Given the description of an element on the screen output the (x, y) to click on. 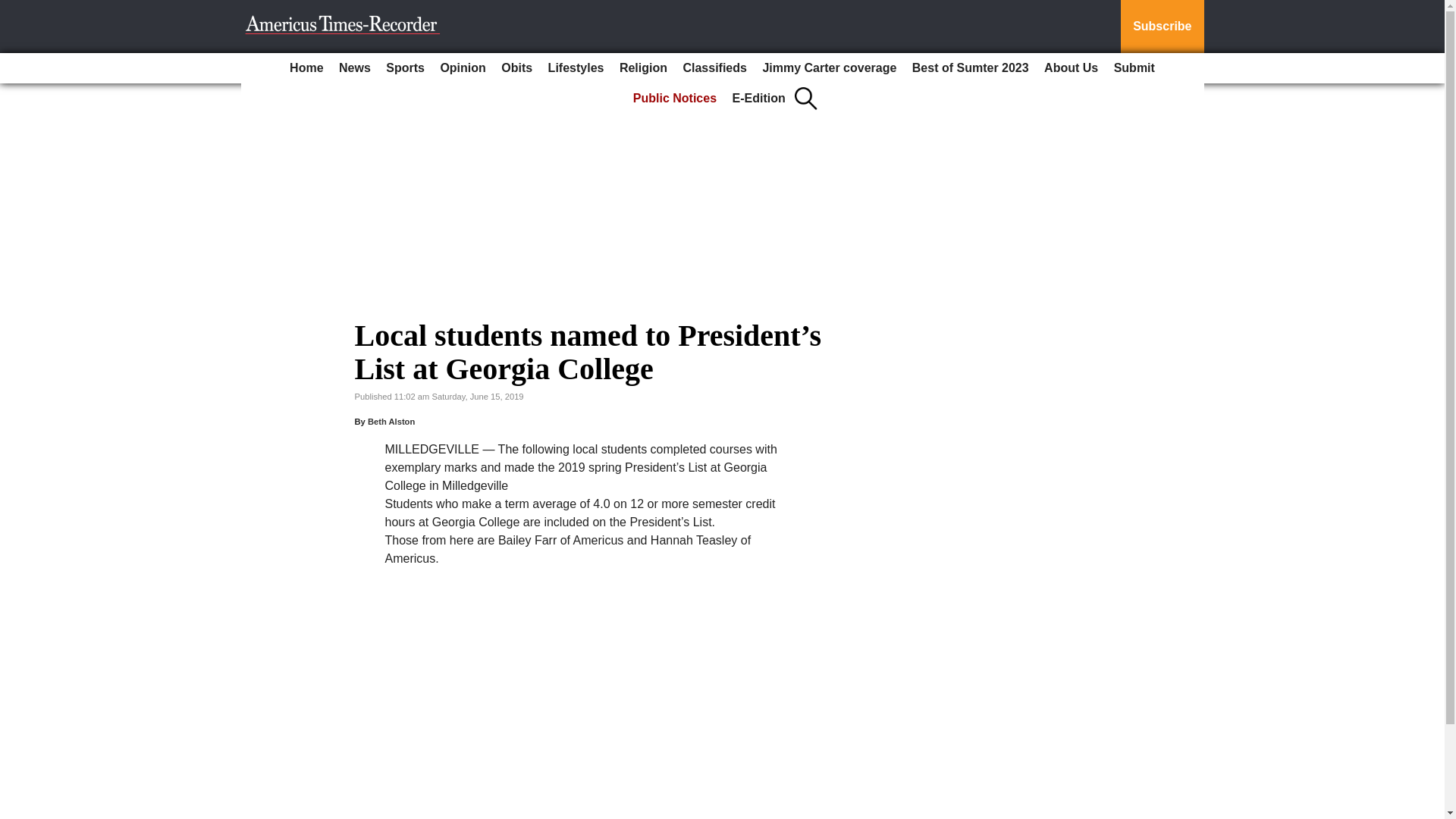
Submit (1134, 68)
Beth Alston (391, 420)
Jimmy Carter coverage (828, 68)
E-Edition (759, 98)
Sports (405, 68)
About Us (1070, 68)
Home (306, 68)
Subscribe (1162, 26)
Classifieds (714, 68)
Best of Sumter 2023 (970, 68)
